Given the description of an element on the screen output the (x, y) to click on. 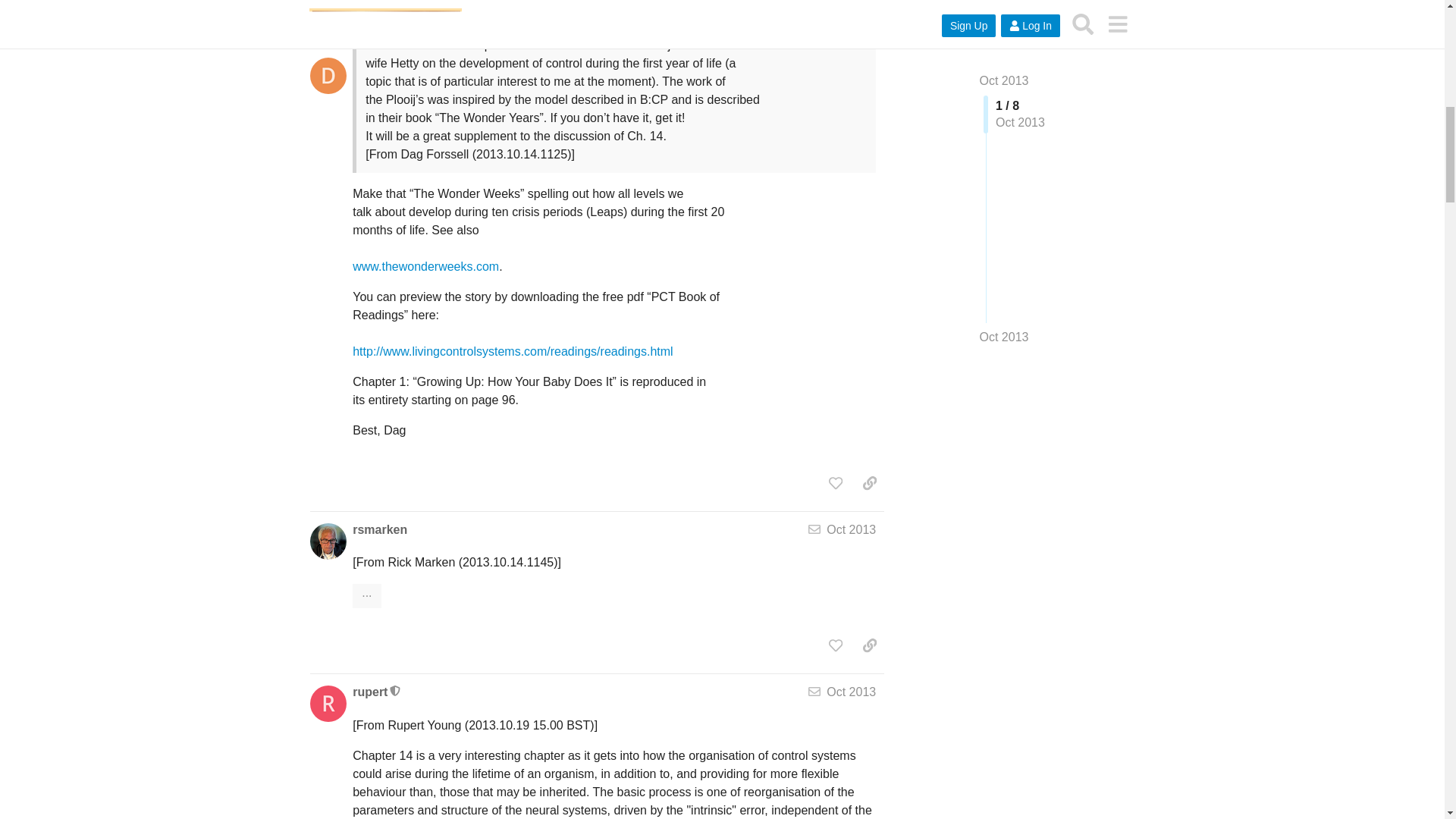
www.thewonderweeks.com (425, 275)
rsmarken (379, 529)
Oct 2013 (851, 529)
